Given the description of an element on the screen output the (x, y) to click on. 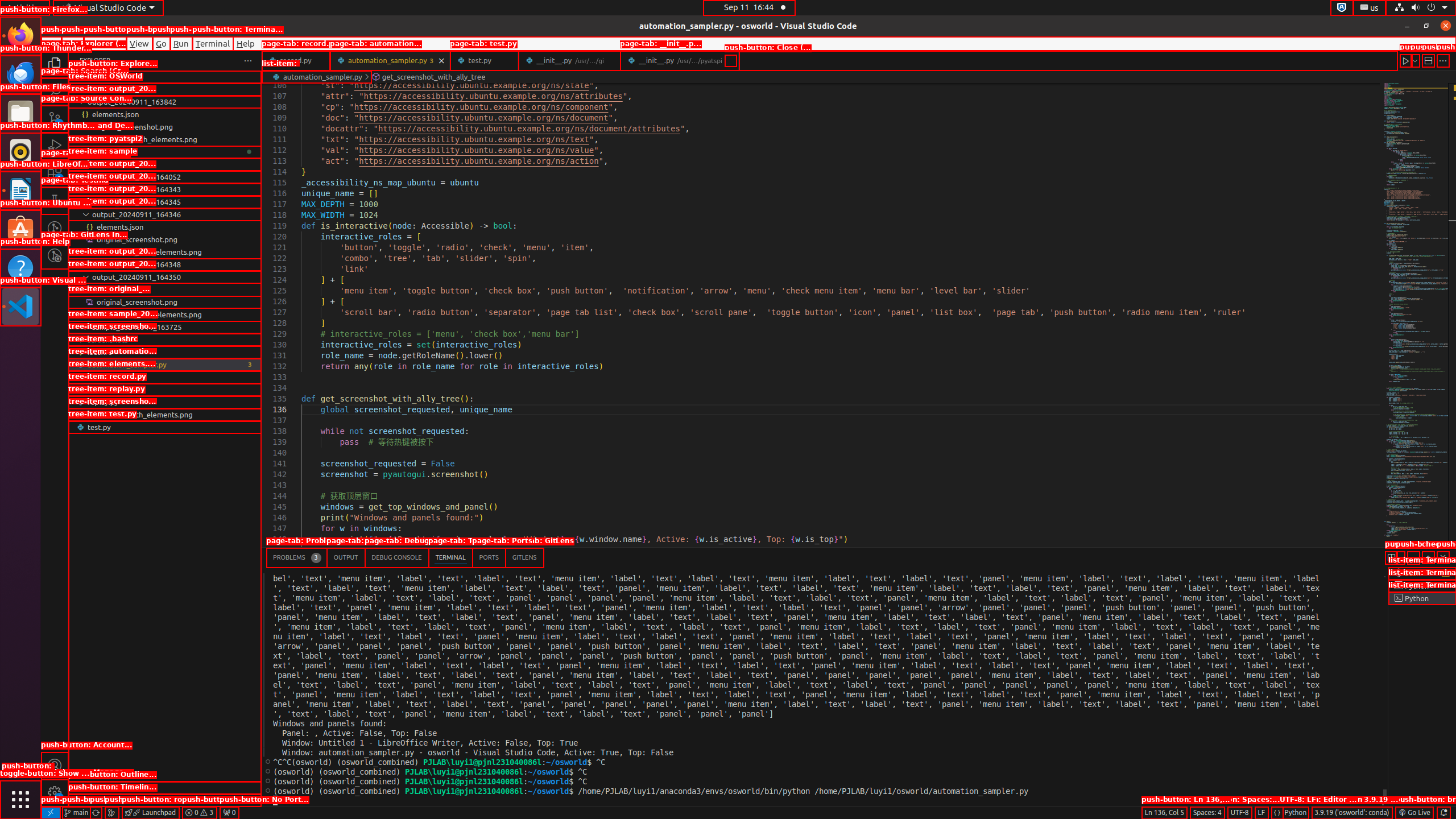
OSWorld Element type: tree-item (164, 89)
Terminal 1 bash Element type: list-item (1422, 573)
Explorer Section: osworld Element type: push-button (164, 76)
OSWorld (Git) - main, Checkout Branch/Tag... Element type: push-button (75, 812)
